Given the description of an element on the screen output the (x, y) to click on. 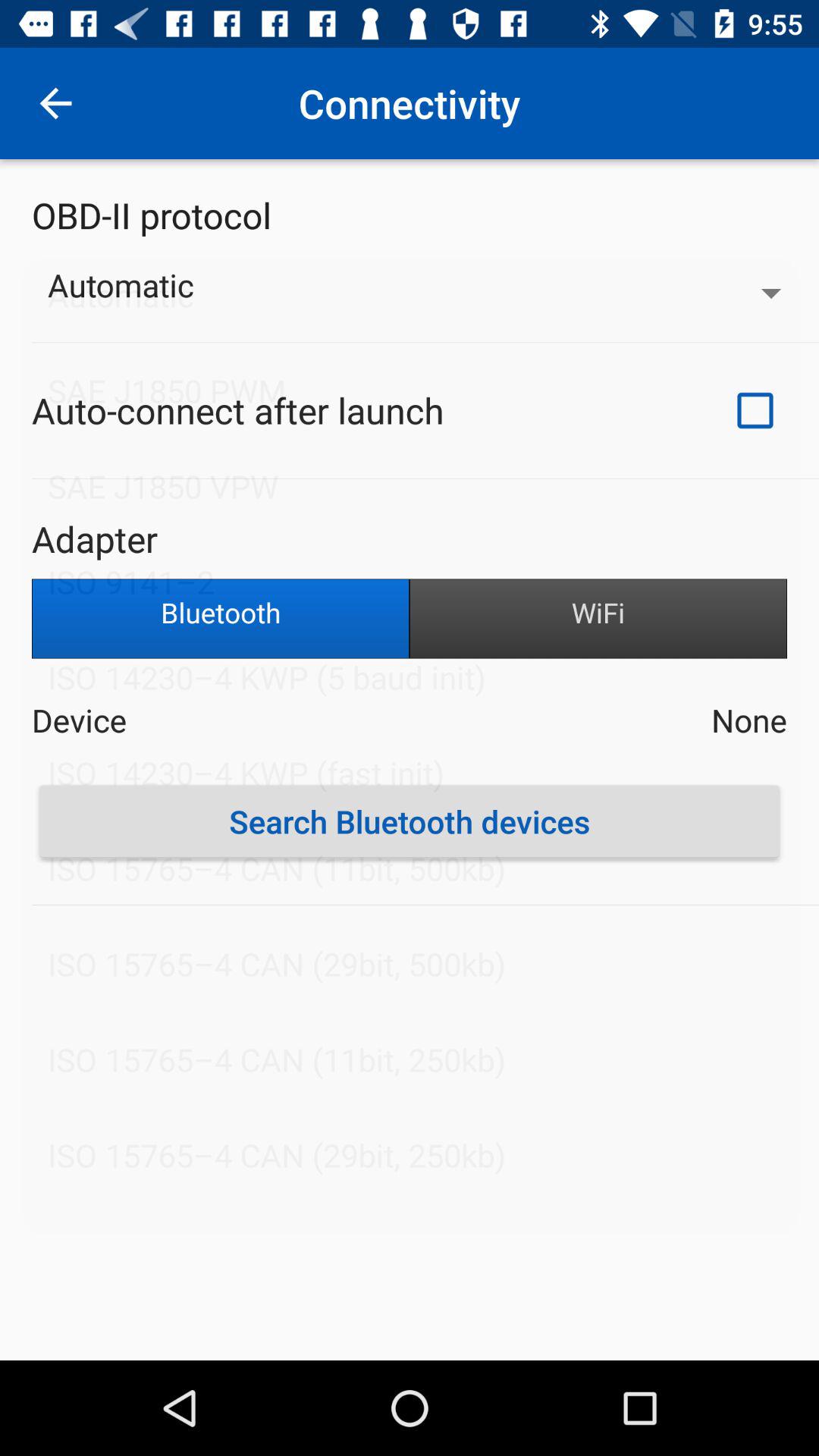
press item next to the bluetooth item (598, 618)
